Given the description of an element on the screen output the (x, y) to click on. 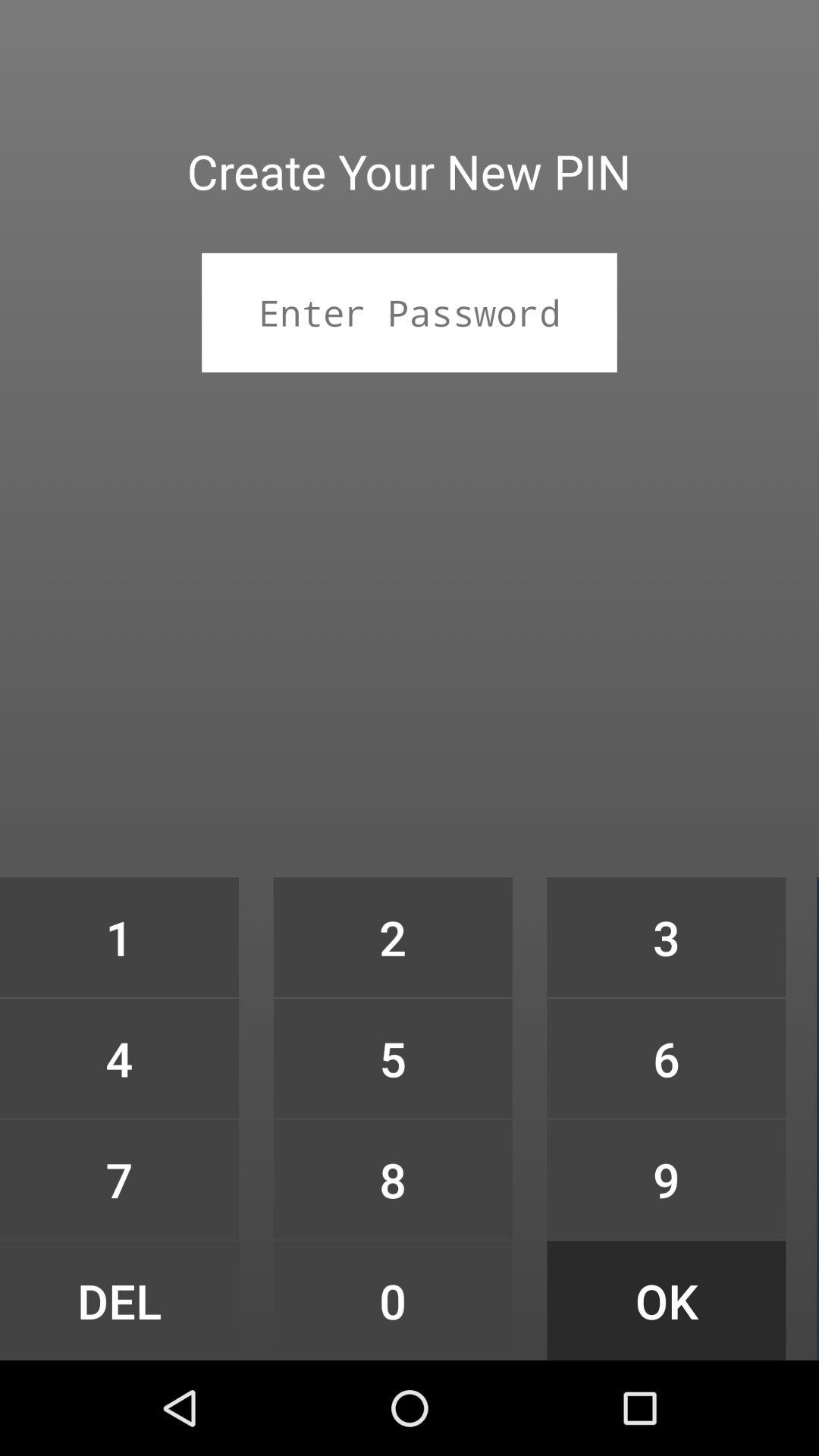
enter password (409, 312)
